Given the description of an element on the screen output the (x, y) to click on. 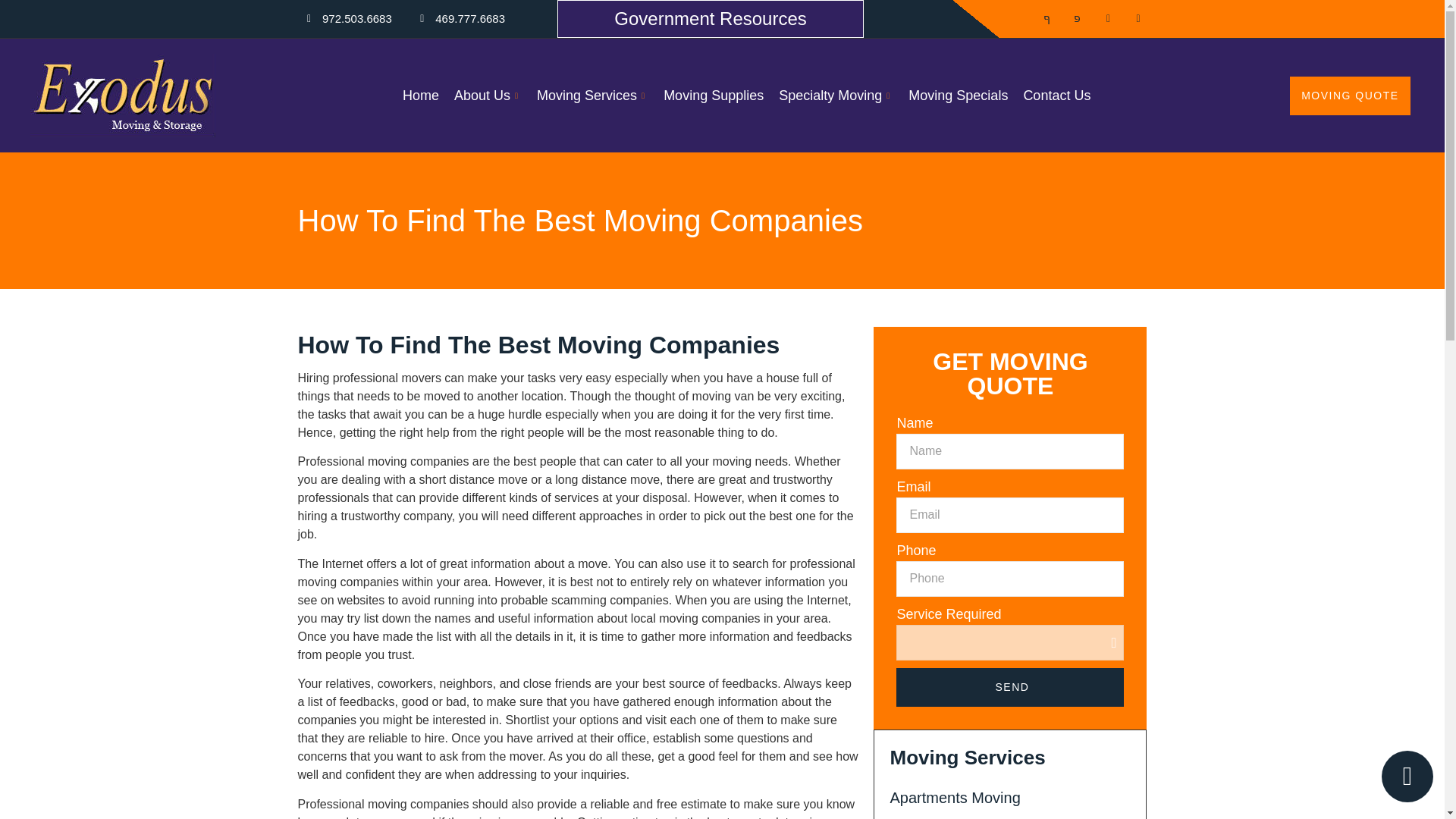
Moving Supplies (713, 94)
Moving Specials (957, 94)
MOVING QUOTE (1349, 95)
Government Resources (710, 18)
Contact Us (1055, 94)
972.503.6683 (344, 18)
Specialty Moving (836, 94)
Home (420, 94)
Moving Services (592, 94)
469.777.6683 (457, 18)
